Given the description of an element on the screen output the (x, y) to click on. 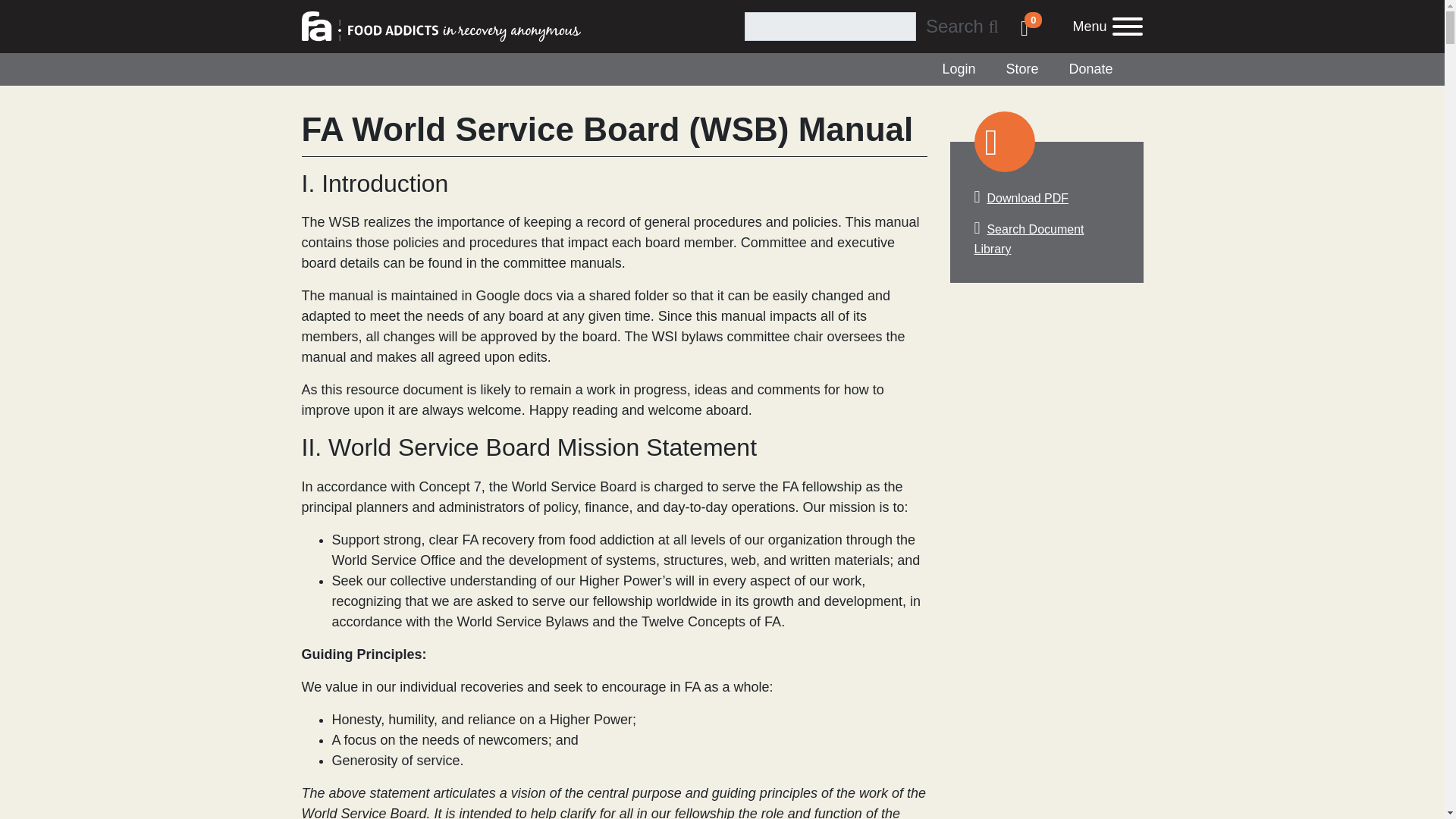
Donate (1090, 68)
Menu (1088, 26)
Store (1022, 68)
Login (962, 26)
0 (958, 68)
